Given the description of an element on the screen output the (x, y) to click on. 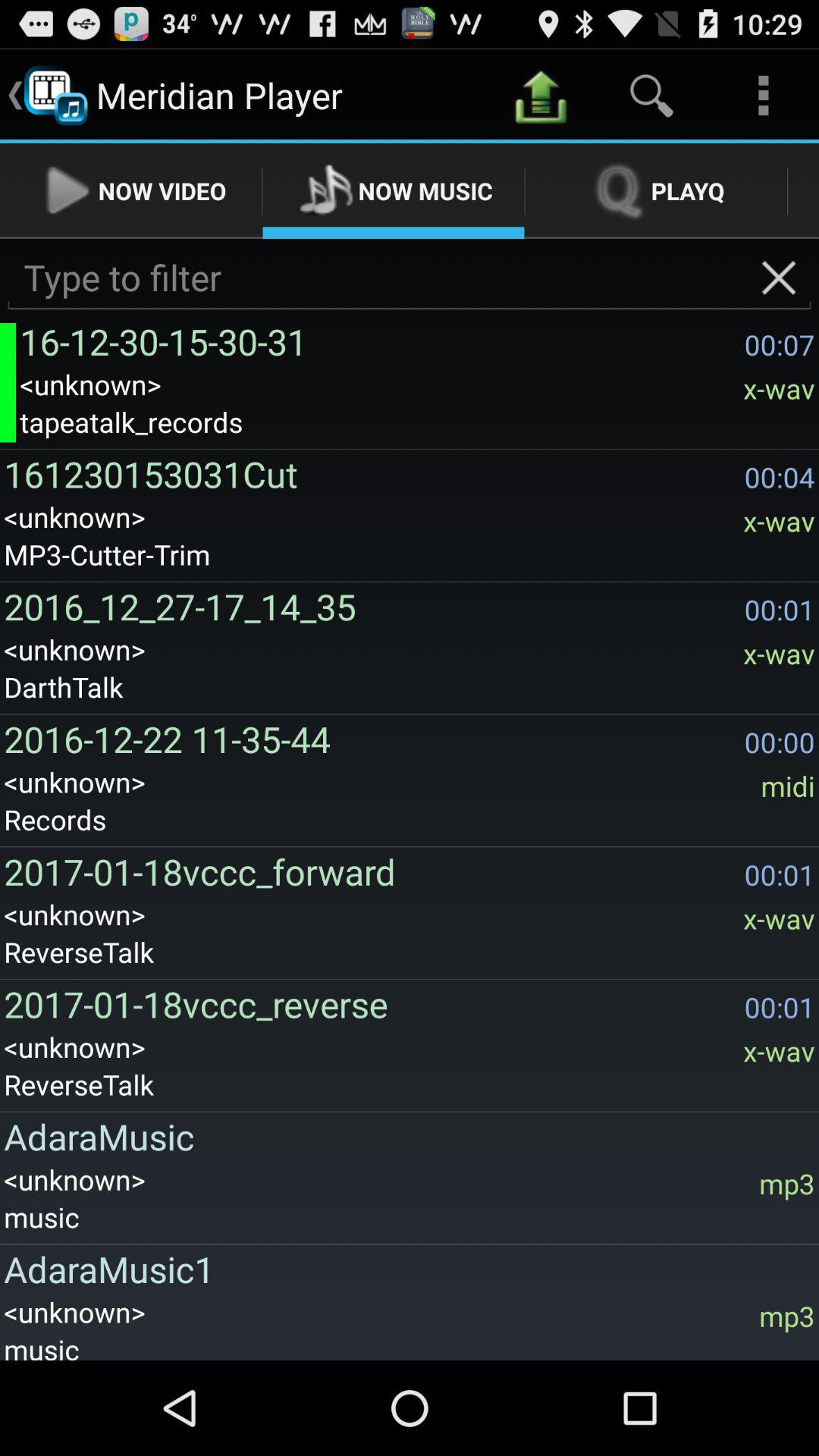
filter the music (409, 277)
